Given the description of an element on the screen output the (x, y) to click on. 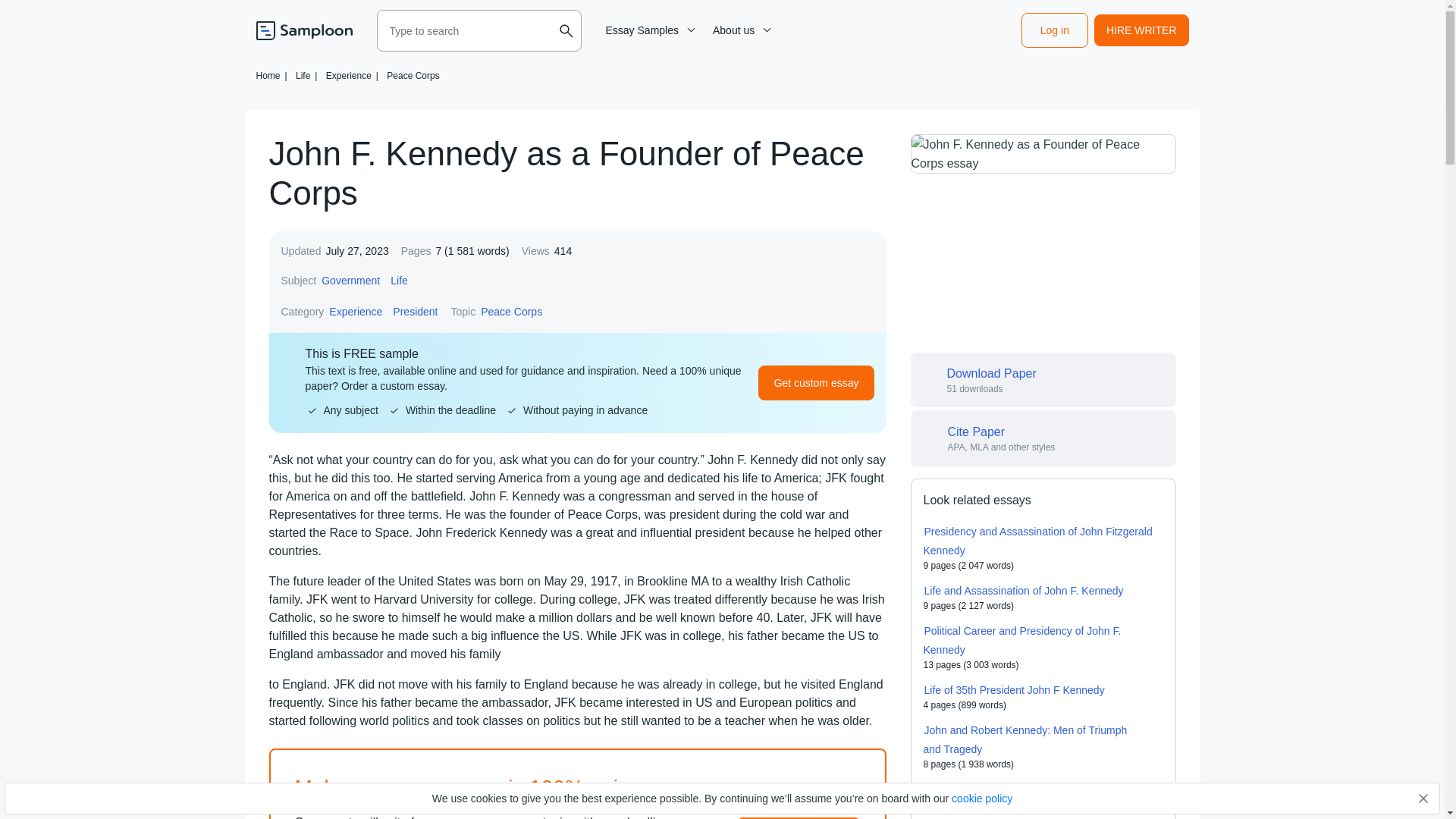
Peace Corps (413, 75)
President (414, 311)
About us (739, 30)
Experience (355, 311)
Essay Samples (647, 30)
Life (399, 280)
Government (350, 280)
Peace Corps (511, 311)
John F. Kennedy as a Founder of Peace Corps (1042, 153)
